Given the description of an element on the screen output the (x, y) to click on. 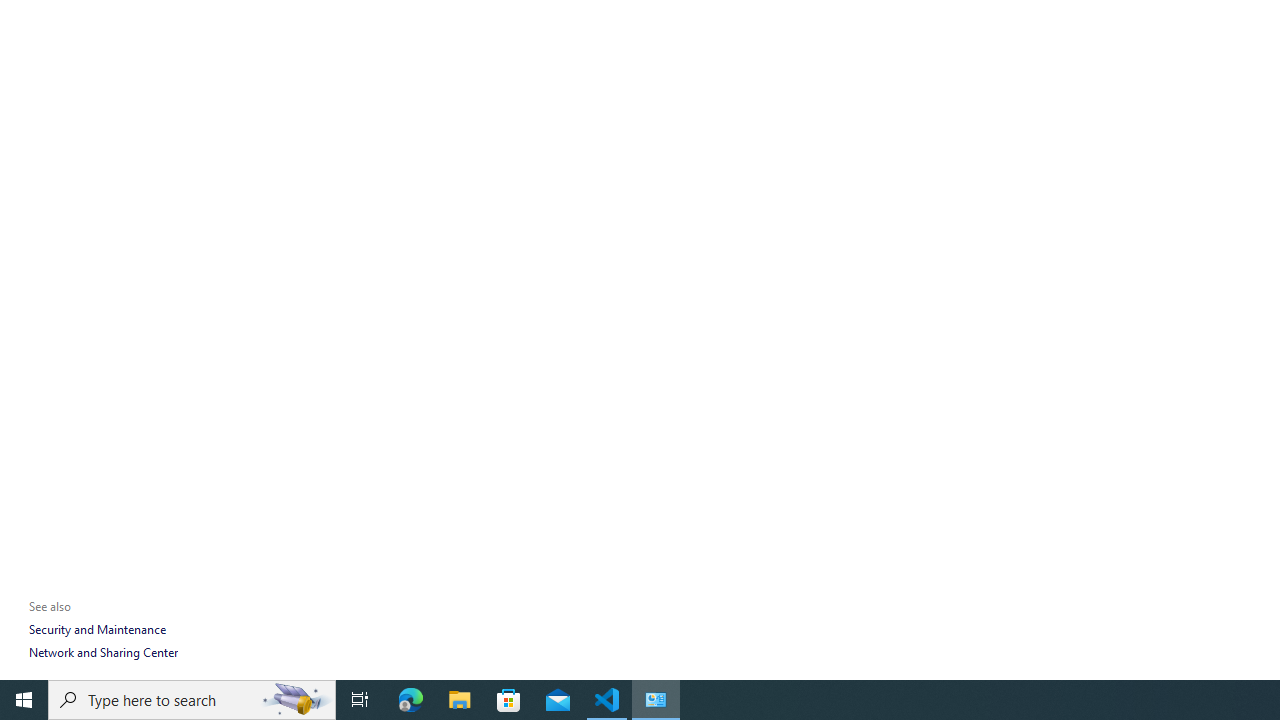
Microsoft Edge (411, 699)
Visual Studio Code - 1 running window (607, 699)
Network and Sharing Center (103, 652)
Task View (359, 699)
Start (24, 699)
Type here to search (191, 699)
Search highlights icon opens search home window (295, 699)
Security and Maintenance (96, 629)
File Explorer (460, 699)
Microsoft Store (509, 699)
Control Panel - 1 running window (656, 699)
